Given the description of an element on the screen output the (x, y) to click on. 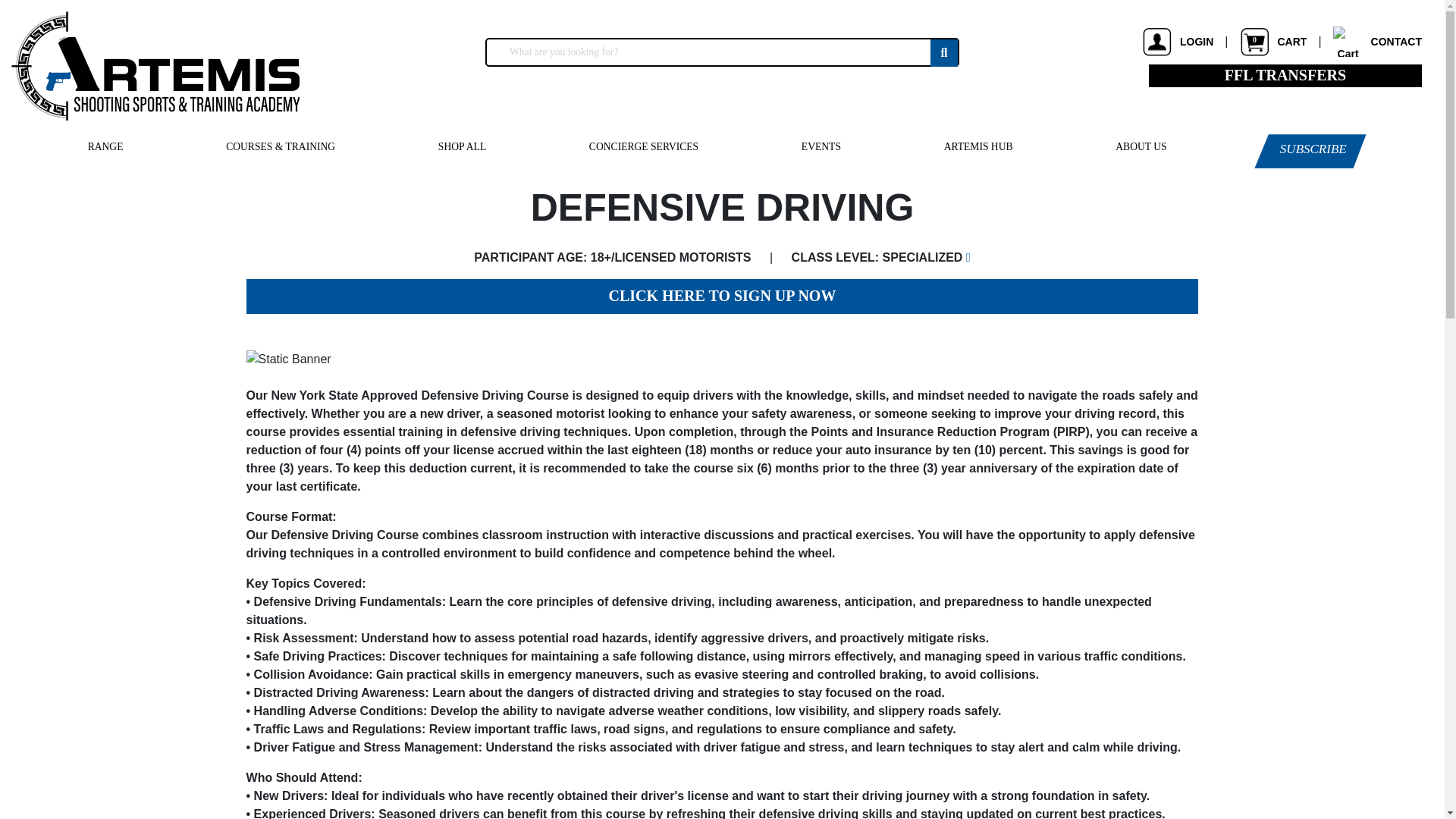
LOGIN (1272, 41)
FFL TRANSFERS (1176, 41)
RANGE (1284, 74)
CONTACT (105, 146)
